Given the description of an element on the screen output the (x, y) to click on. 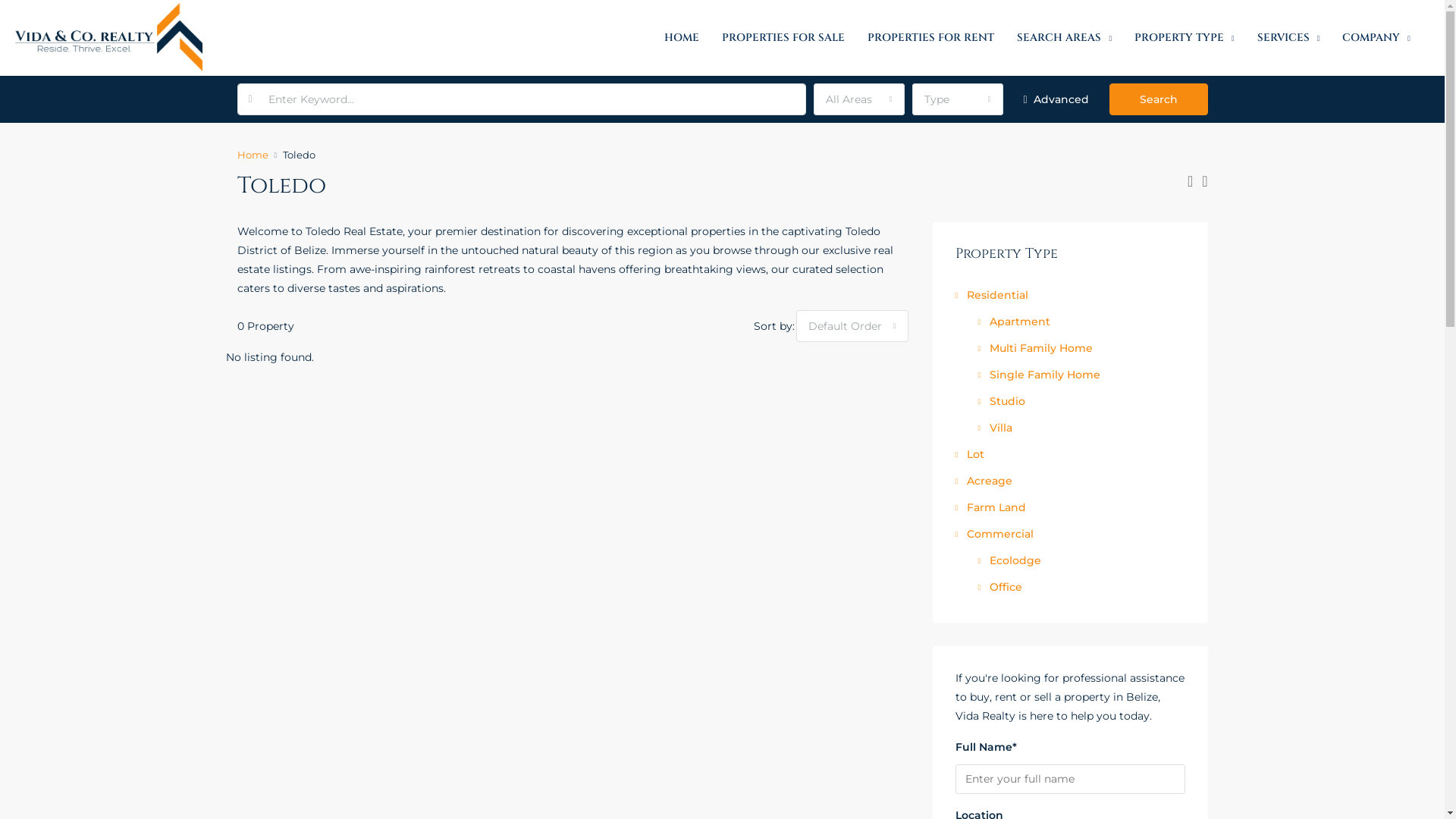
Residential Element type: text (991, 294)
Default Order Element type: text (852, 326)
Single Family Home Element type: text (1039, 374)
Multi Family Home Element type: text (1035, 347)
SERVICES Element type: text (1288, 38)
Home Element type: text (251, 154)
Acreage Element type: text (983, 480)
Office Element type: text (1000, 586)
Farm Land Element type: text (990, 507)
Lot Element type: text (969, 454)
Search Element type: text (1157, 99)
All Areas Element type: text (857, 99)
HOME Element type: text (681, 37)
Advanced Element type: text (1055, 99)
SEARCH AREAS Element type: text (1064, 38)
COMPANY Element type: text (1375, 38)
PROPERTIES FOR RENT Element type: text (930, 37)
Ecolodge Element type: text (1009, 560)
PROPERTY TYPE Element type: text (1184, 38)
Studio Element type: text (1001, 400)
Villa Element type: text (995, 427)
Commercial Element type: text (994, 533)
PROPERTIES FOR SALE Element type: text (783, 37)
Type Element type: text (956, 99)
Apartment Element type: text (1014, 321)
